Given the description of an element on the screen output the (x, y) to click on. 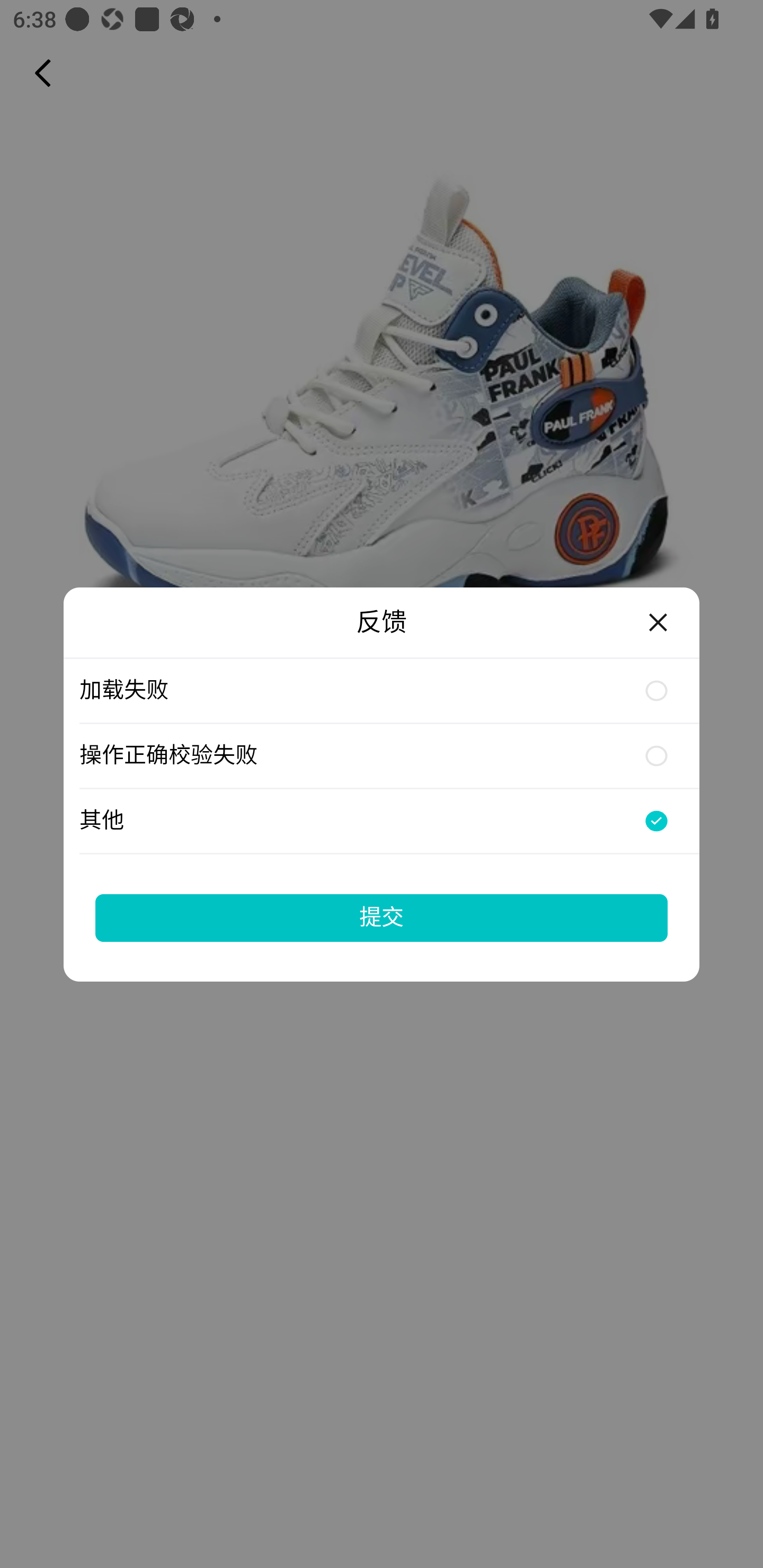
提交 (381, 917)
